Given the description of an element on the screen output the (x, y) to click on. 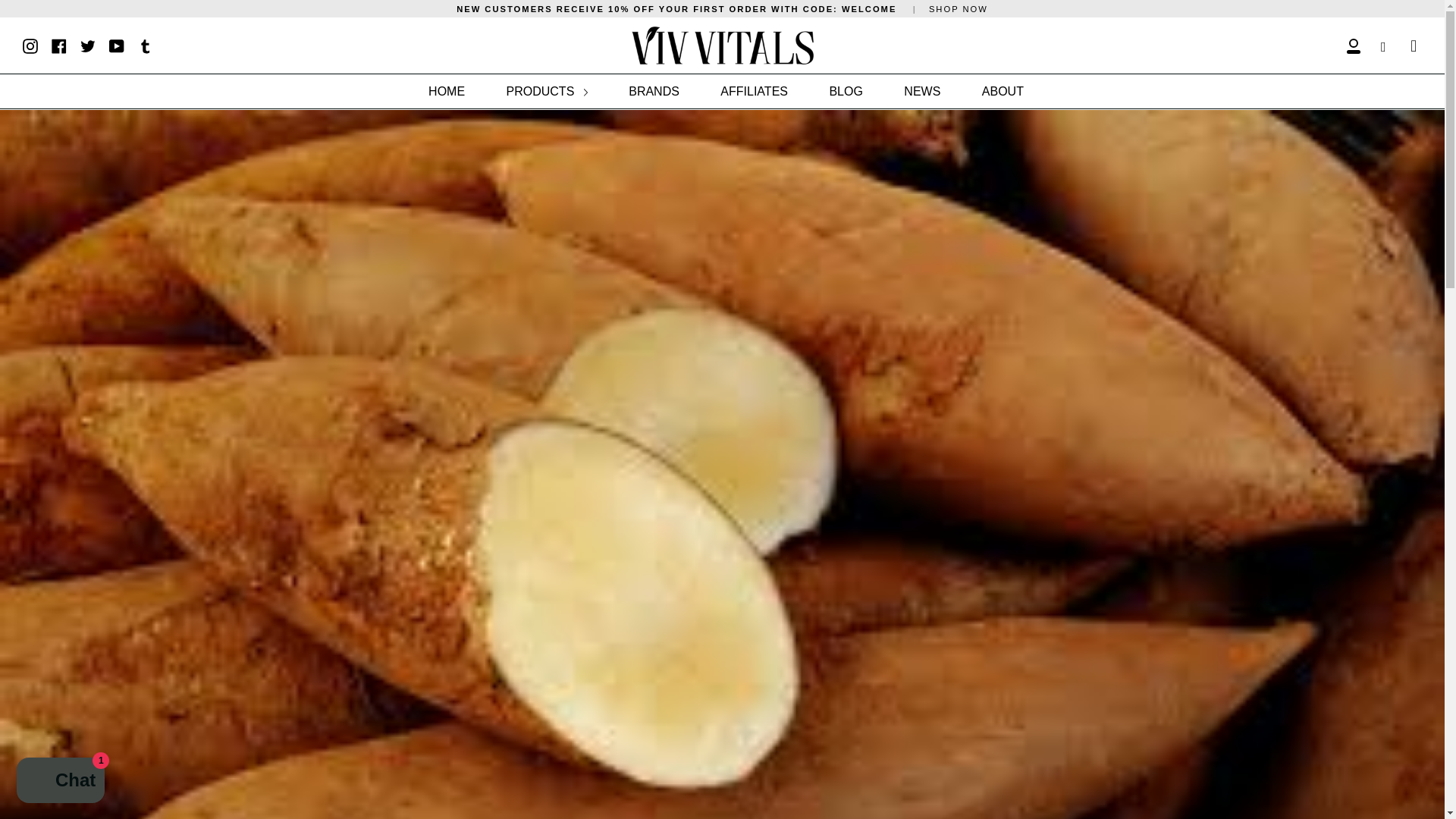
Shopify online store chat (60, 781)
Twitter (88, 44)
YouTube (116, 44)
HOME (446, 91)
PRODUCTS (546, 91)
Tumblr (145, 44)
VIV Vitals on YouTube (116, 44)
VIV Vitals on Instagram (30, 44)
VIV Vitals on Twitter (88, 44)
Facebook (58, 44)
Instagram (30, 44)
VIV Vitals on Facebook (58, 44)
VIV Vitals on Tumblr (145, 44)
